Given the description of an element on the screen output the (x, y) to click on. 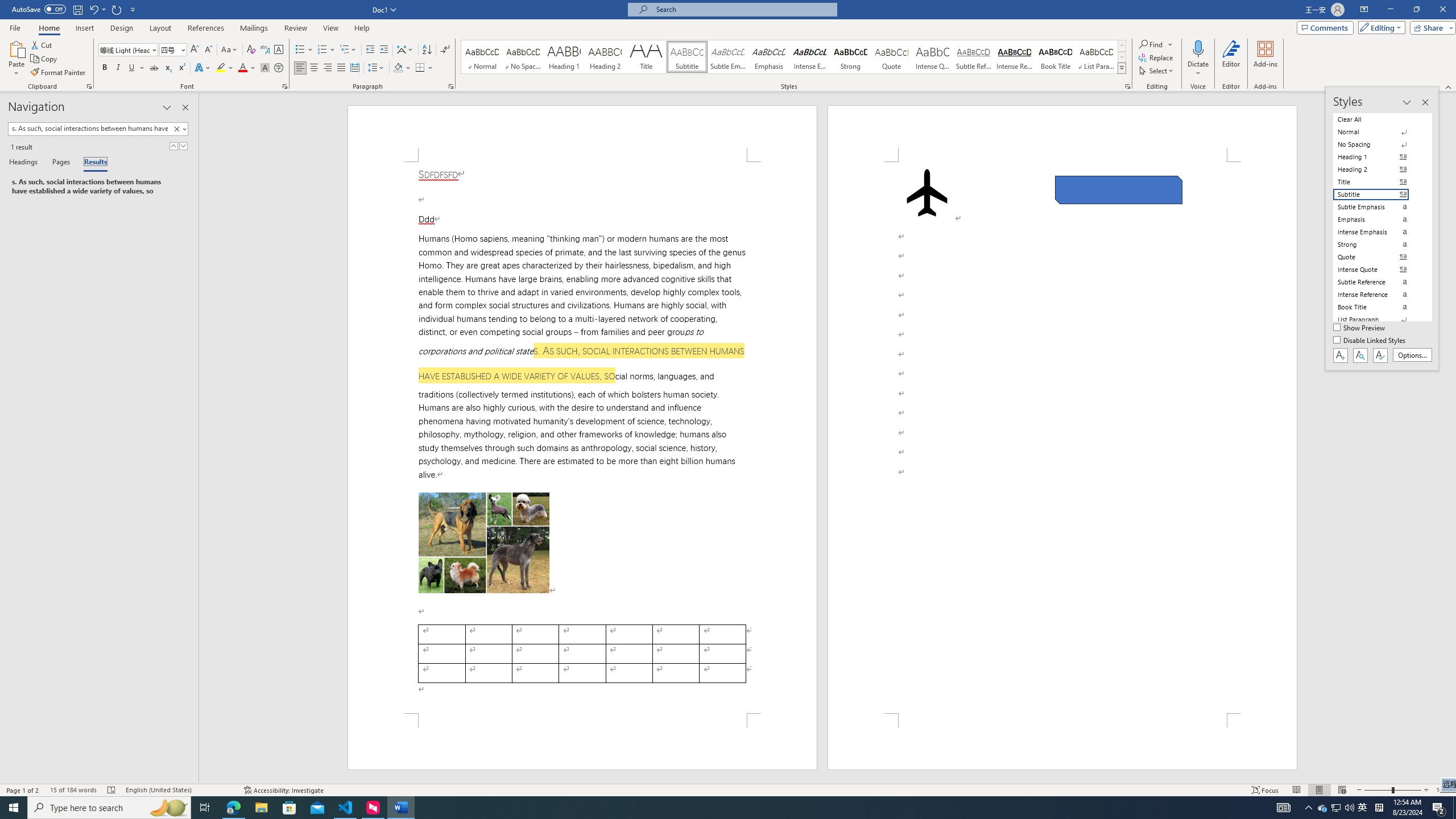
Intense Quote (932, 56)
Undo Style (96, 9)
Book Title (1055, 56)
Page Number Page 1 of 2 (22, 790)
Previous Result (173, 145)
Intense Reference (1014, 56)
